Given the description of an element on the screen output the (x, y) to click on. 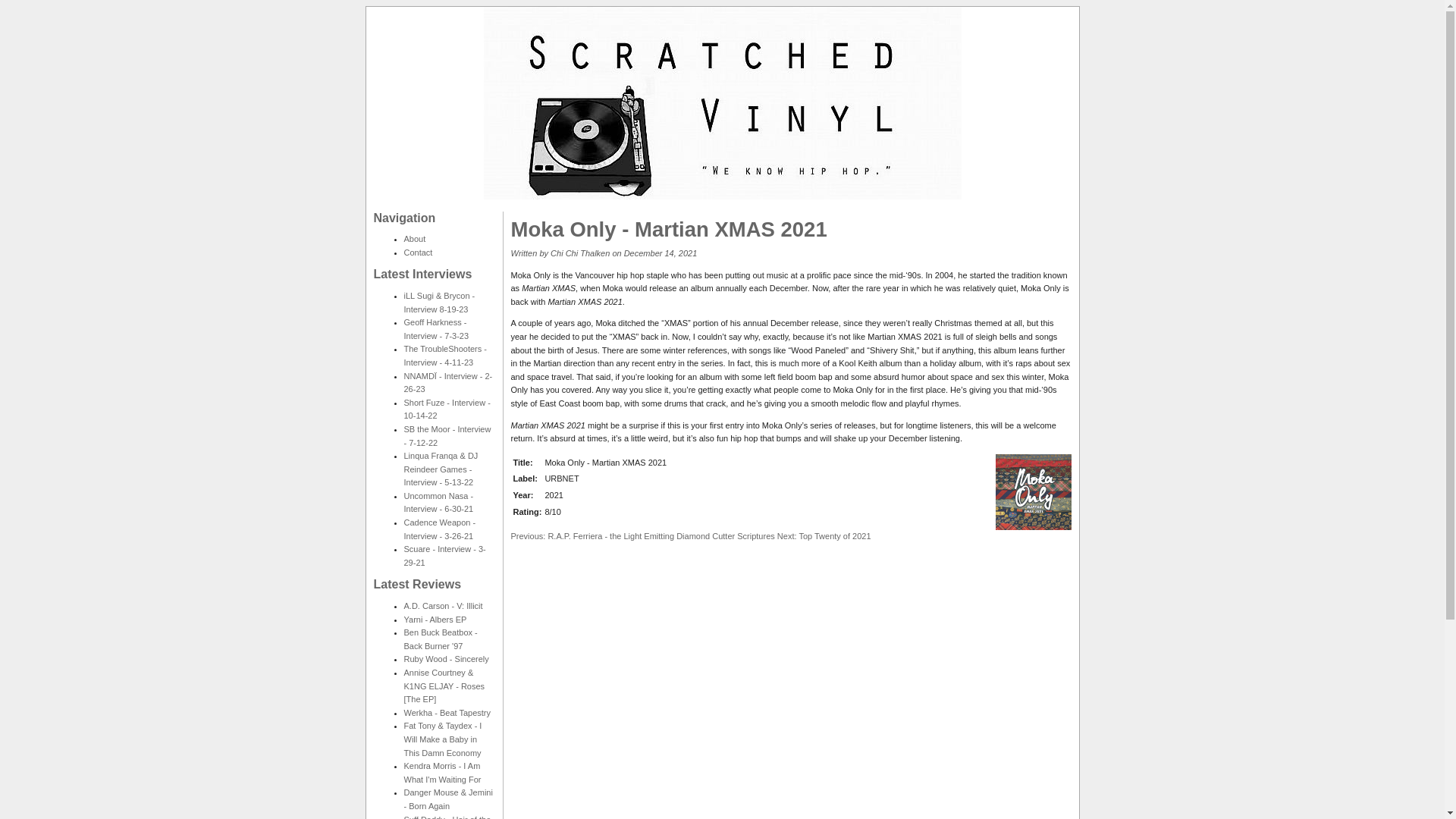
Short Fuze - Interview - 10-14-22 (446, 409)
Ruby Wood - Sincerely (445, 658)
Geoff Harkness - Interview - 7-3-23 (435, 328)
A.D. Carson - V: Illicit (442, 605)
Cadence Weapon - Interview - 3-26-21 (439, 528)
Yarni - Albers EP (434, 619)
Scuare - Interview - 3-29-21 (443, 555)
Suff Daddy - Hair of the Dog (446, 816)
Werkha - Beat Tapestry (446, 712)
Next: Top Twenty of 2021 (823, 535)
